Given the description of an element on the screen output the (x, y) to click on. 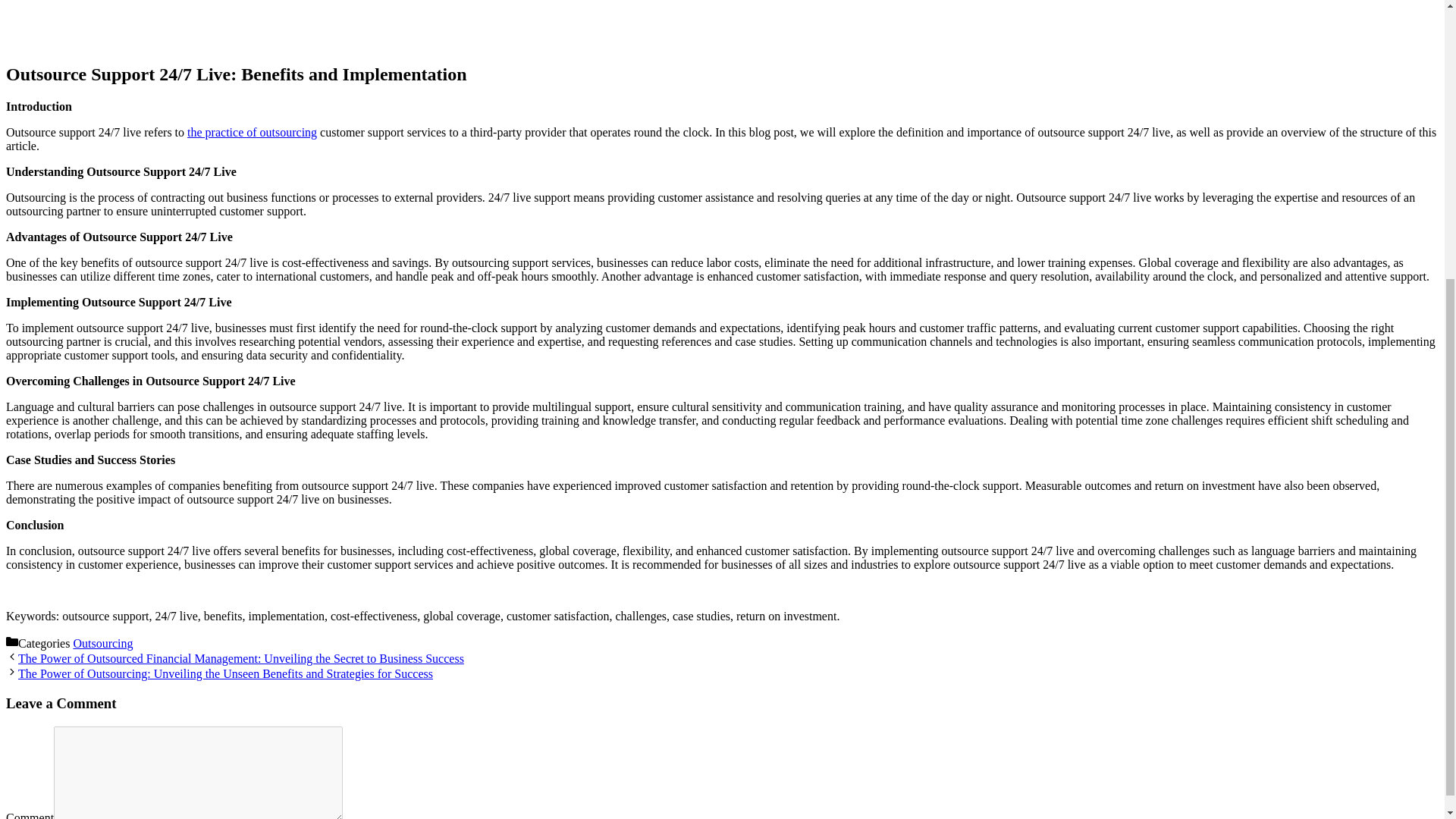
Outsourcing (102, 643)
the practice of outsourcing (252, 132)
